Given the description of an element on the screen output the (x, y) to click on. 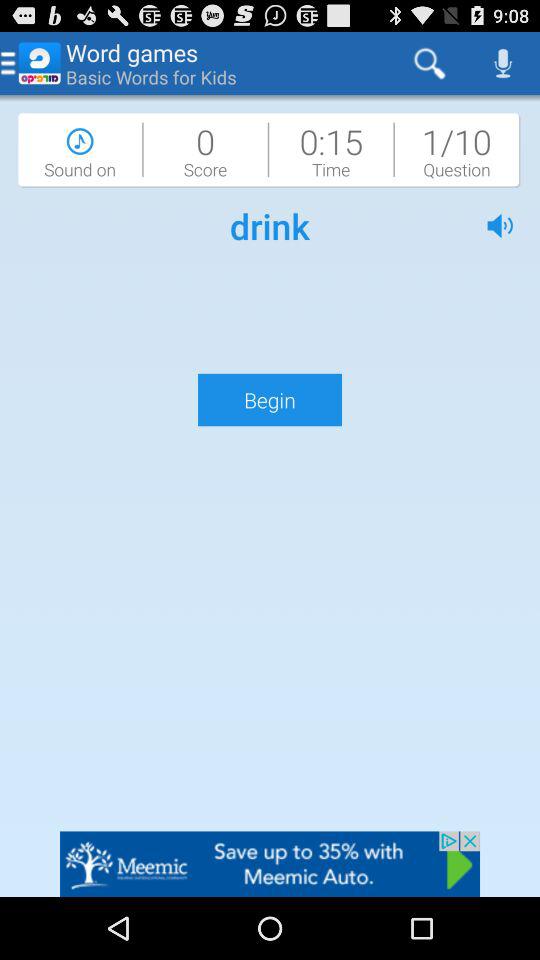
click on search icon (430, 63)
